Given the description of an element on the screen output the (x, y) to click on. 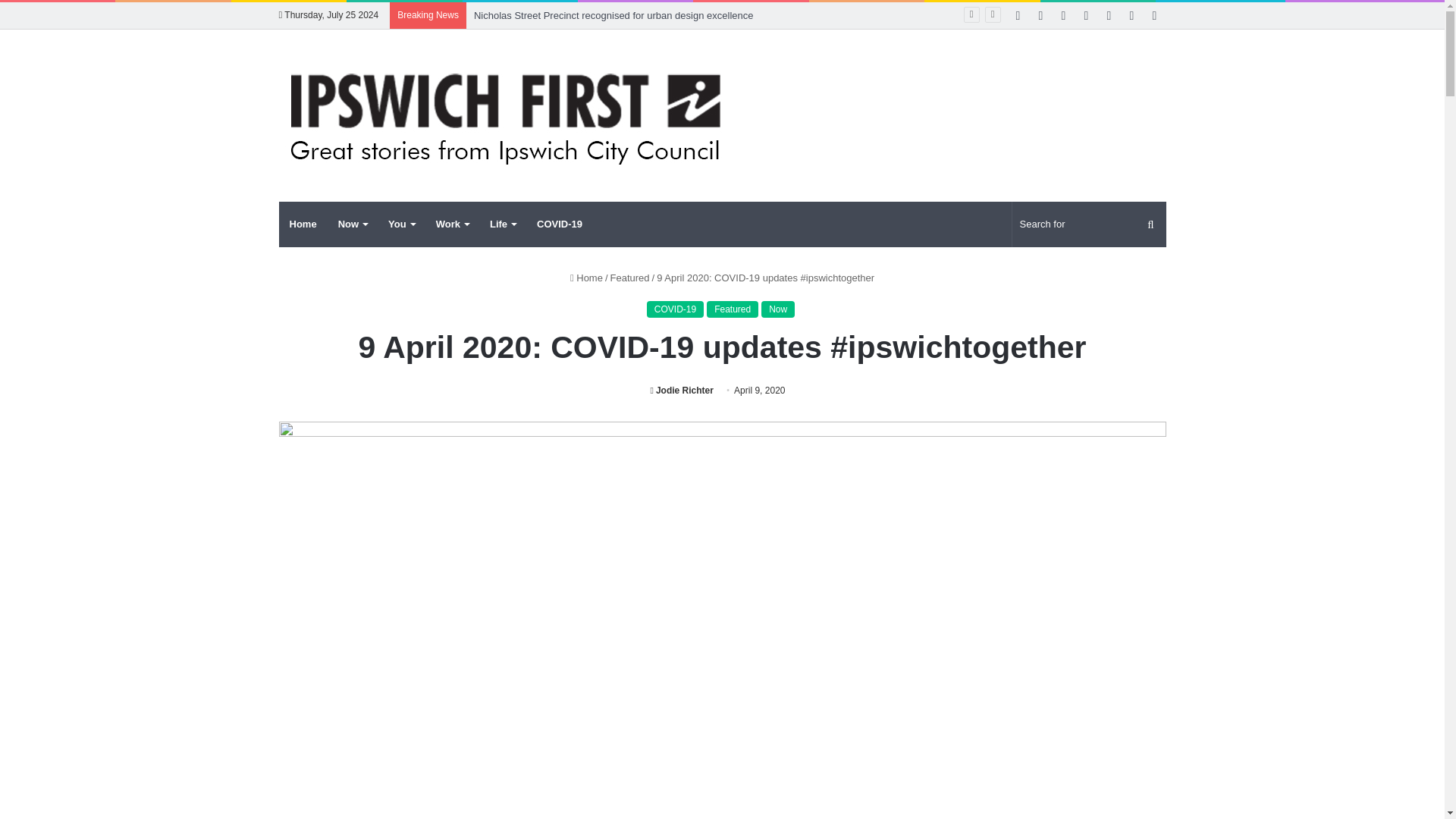
Home (586, 277)
Jodie Richter (681, 389)
Instagram (1131, 15)
Home (303, 224)
Life (502, 224)
YouTube (1086, 15)
Search for (1150, 224)
Search for (1088, 224)
Now (352, 224)
Sidebar (1154, 15)
Featured (629, 277)
COVID-19 (674, 309)
SoundCloud (1109, 15)
LinkedIn (1063, 15)
Facebook (1018, 15)
